Given the description of an element on the screen output the (x, y) to click on. 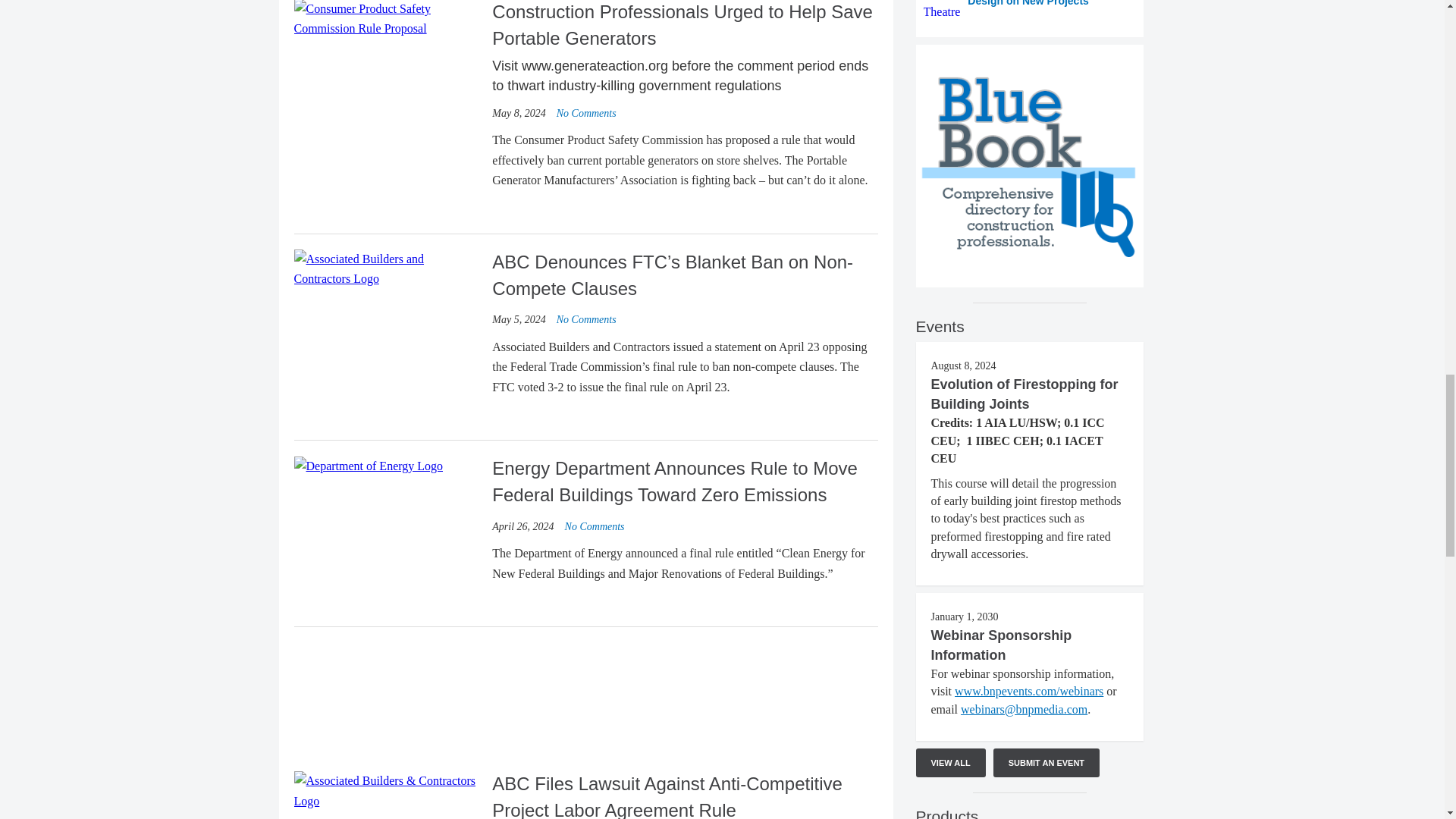
Consumer Product Safety Commission Rule Proposal (387, 19)
